Given the description of an element on the screen output the (x, y) to click on. 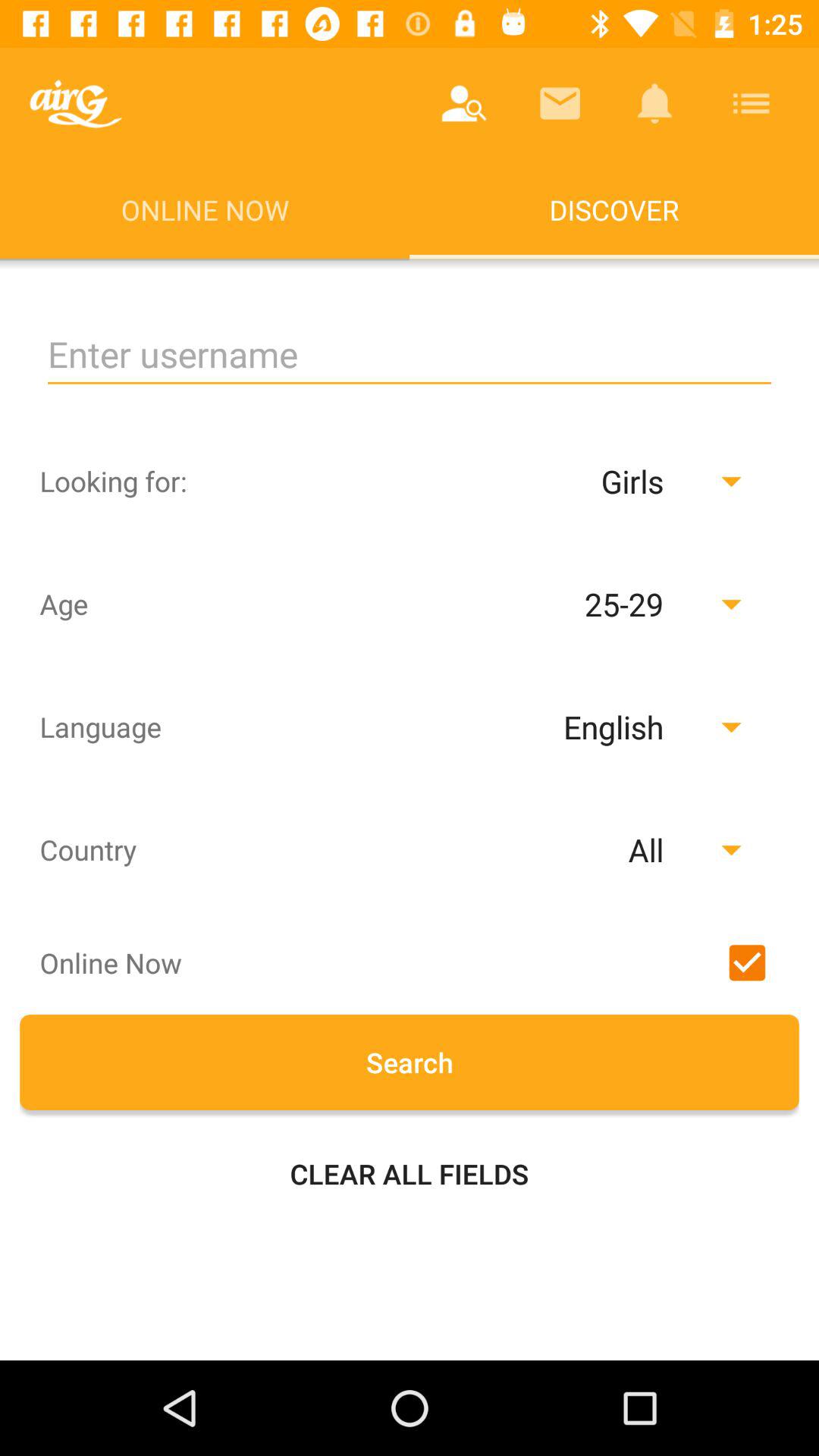
choose item above online now app (75, 103)
